Given the description of an element on the screen output the (x, y) to click on. 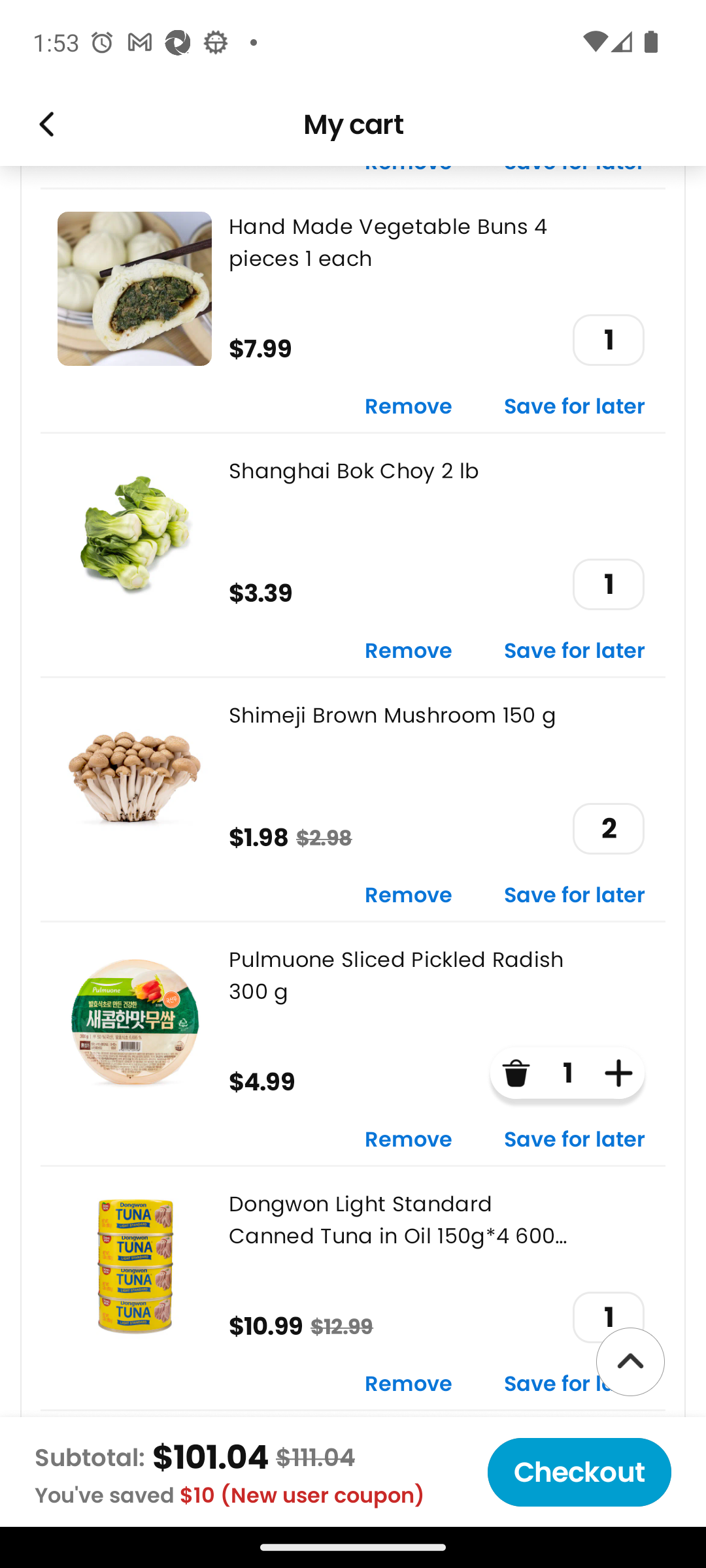
1 (608, 339)
Remove (408, 406)
Save for later (574, 406)
1 (608, 583)
Remove (408, 651)
Save for later (574, 651)
2 (608, 828)
Remove (408, 895)
Save for later (574, 895)
Remove (408, 1140)
Save for later (574, 1140)
1 (608, 1317)
Remove (408, 1385)
Save for later (574, 1385)
Checkout (579, 1471)
